Given the description of an element on the screen output the (x, y) to click on. 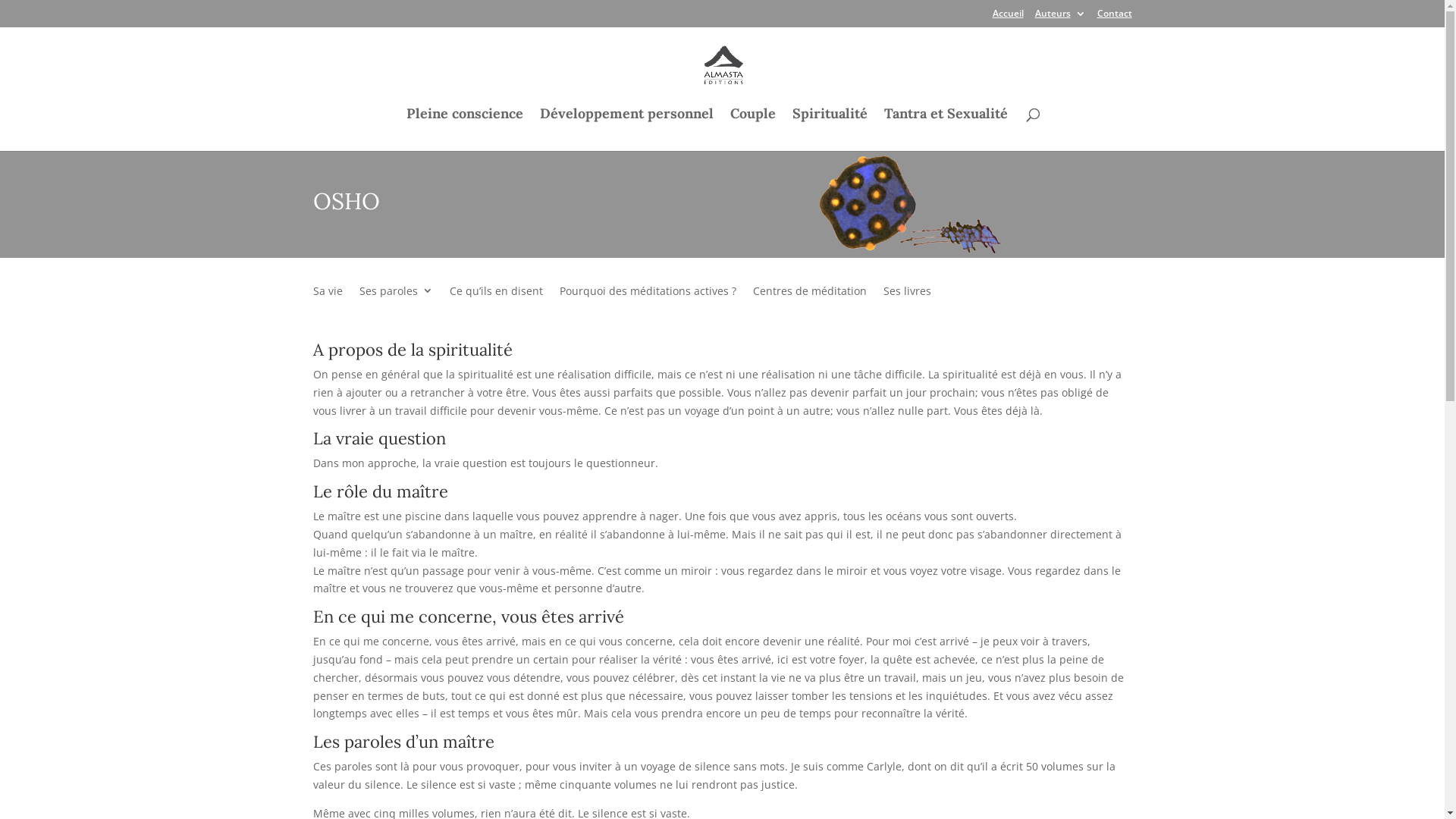
Contact Element type: text (1113, 16)
Accueil Element type: text (1006, 16)
Couple Element type: text (752, 126)
Ses paroles Element type: text (396, 301)
Ses livres Element type: text (906, 301)
Sa vie Element type: text (327, 301)
Auteurs Element type: text (1059, 16)
Pleine conscience Element type: text (464, 126)
